Given the description of an element on the screen output the (x, y) to click on. 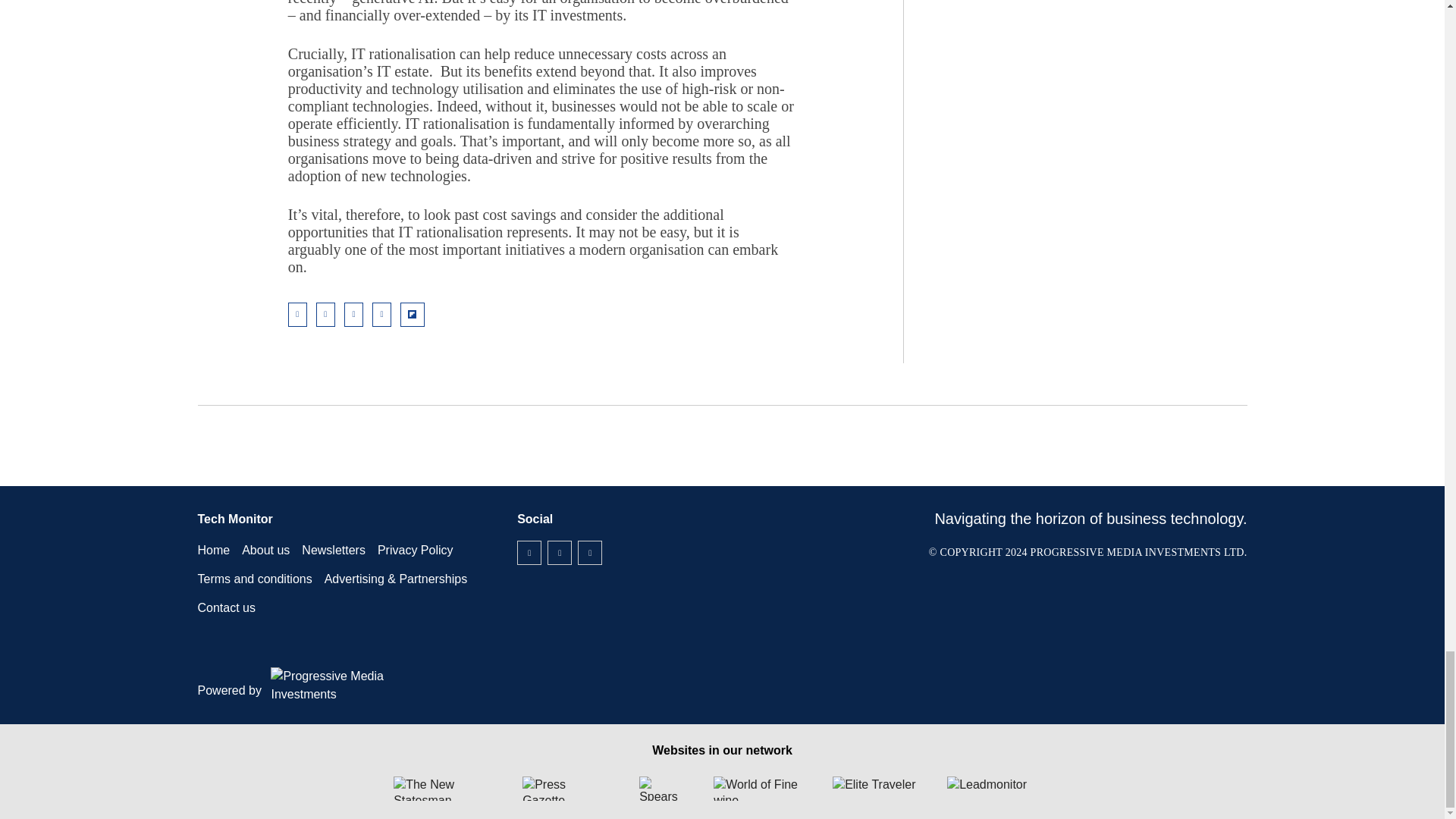
Share on Flipboard (412, 314)
